Given the description of an element on the screen output the (x, y) to click on. 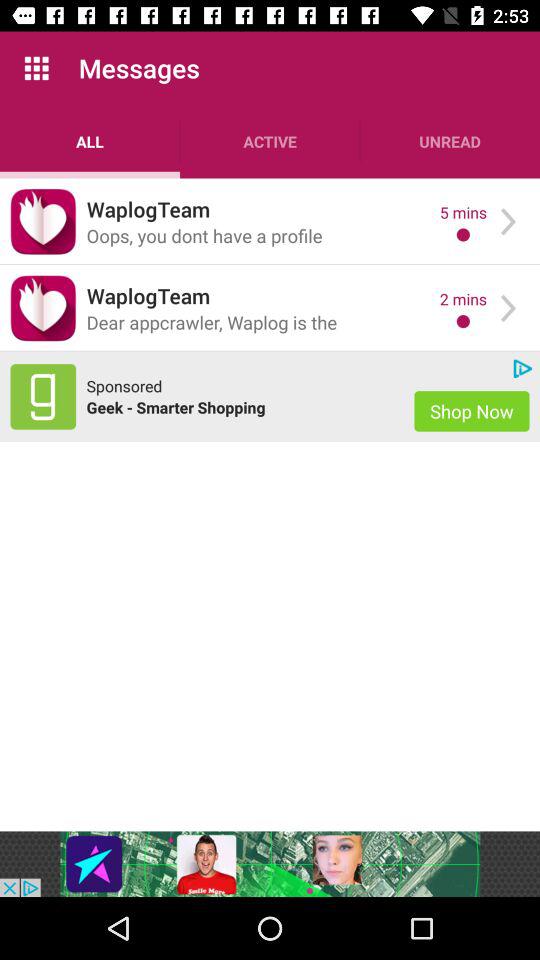
new option (43, 396)
